Given the description of an element on the screen output the (x, y) to click on. 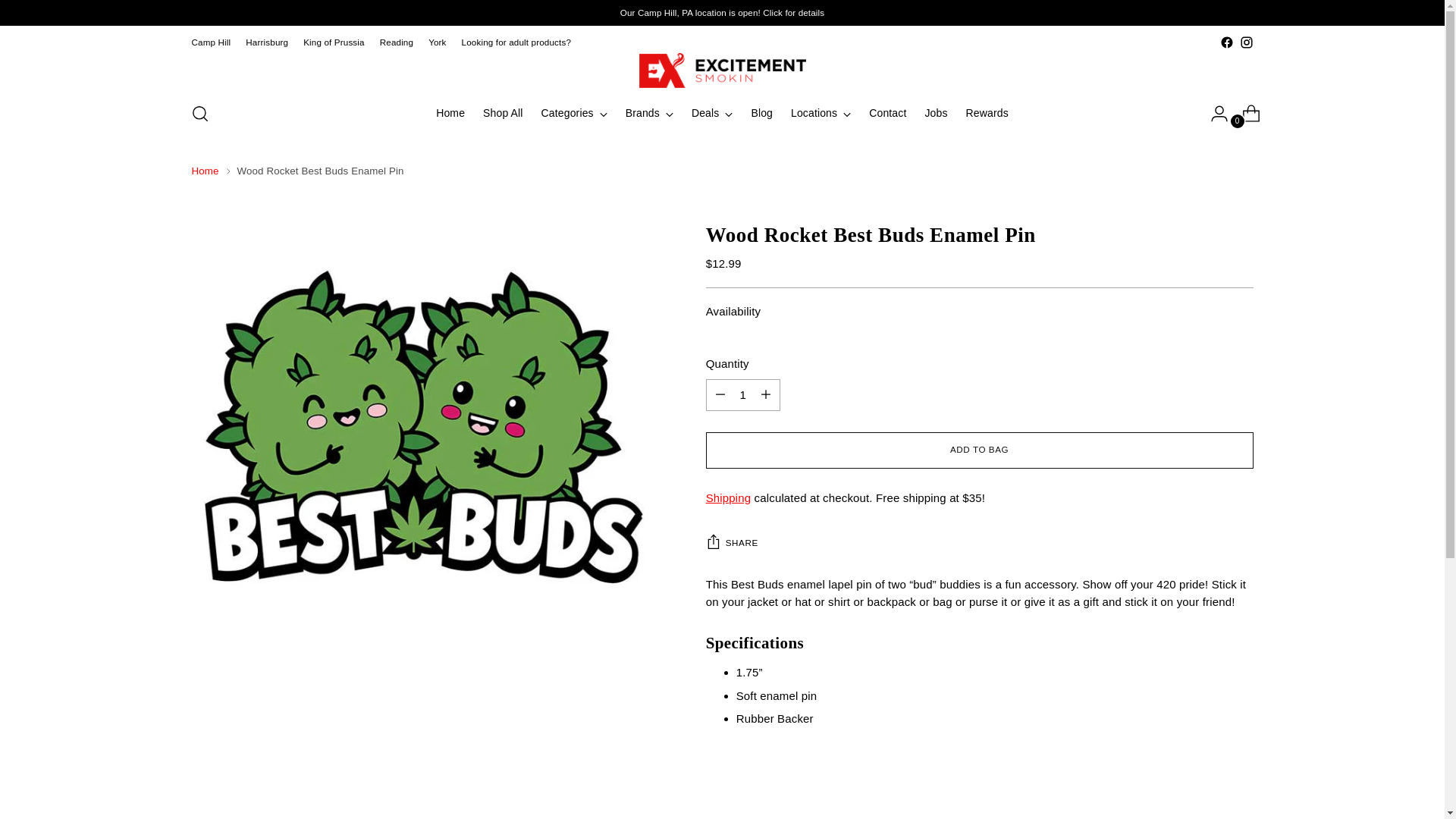
Looking for adult products? (515, 41)
Categories (574, 113)
Shop All (502, 113)
Our Camp Hill, PA location is open! Click for details (722, 11)
Camp Hill (210, 41)
Harrisburg (267, 41)
King of Prussia (333, 41)
1 (743, 395)
Excitement Smokin PA on Facebook (1226, 42)
Excitement Smokin PA on Instagram (1245, 42)
Reading (396, 41)
